Given the description of an element on the screen output the (x, y) to click on. 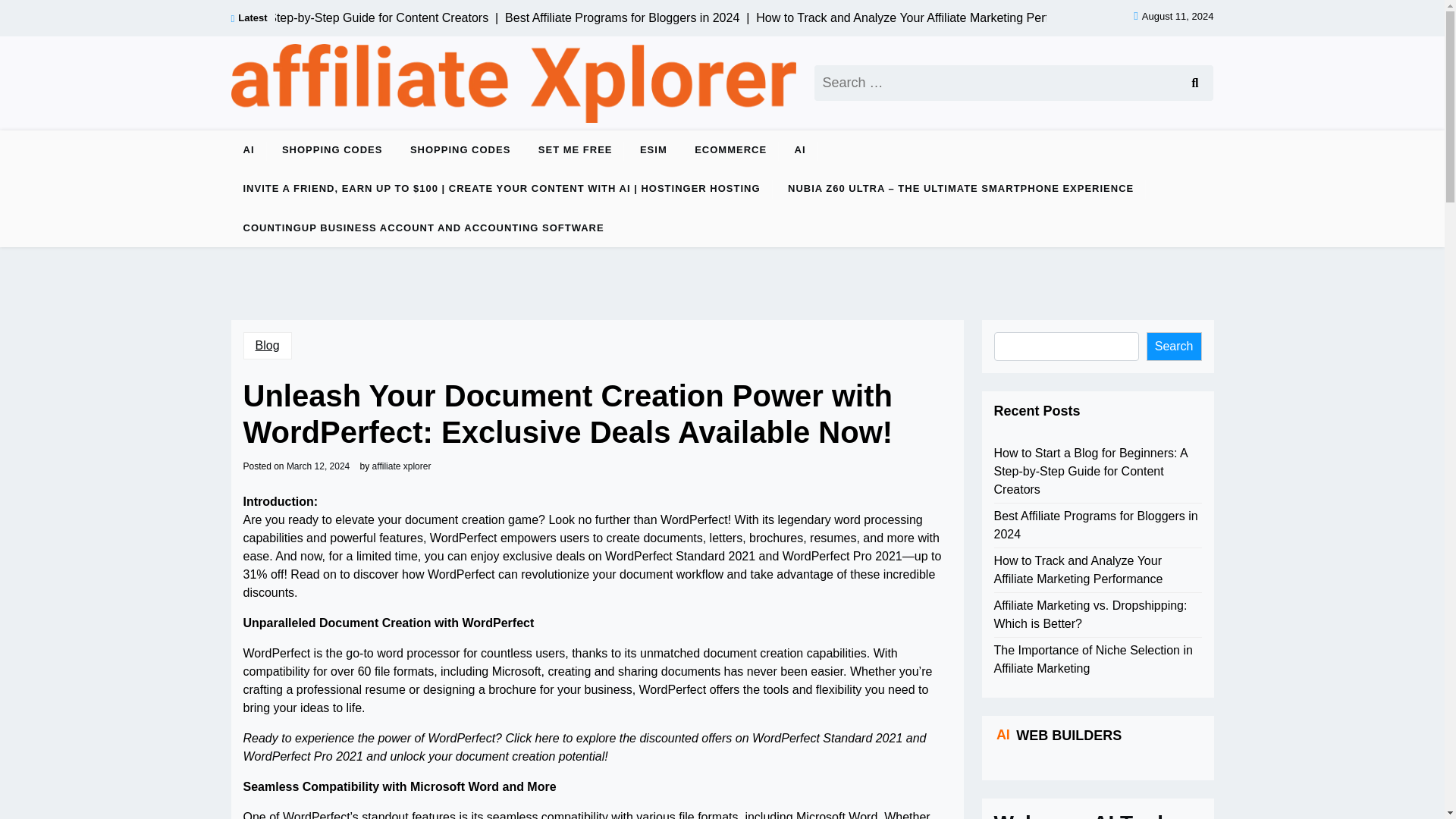
AI (248, 149)
March 12, 2024 (317, 465)
SET ME FREE (574, 149)
Blog (267, 345)
Search (1193, 82)
SHOPPING CODES (331, 149)
Search (1193, 82)
AI (800, 149)
Search (1193, 82)
affiliate xplorer (401, 465)
